Given the description of an element on the screen output the (x, y) to click on. 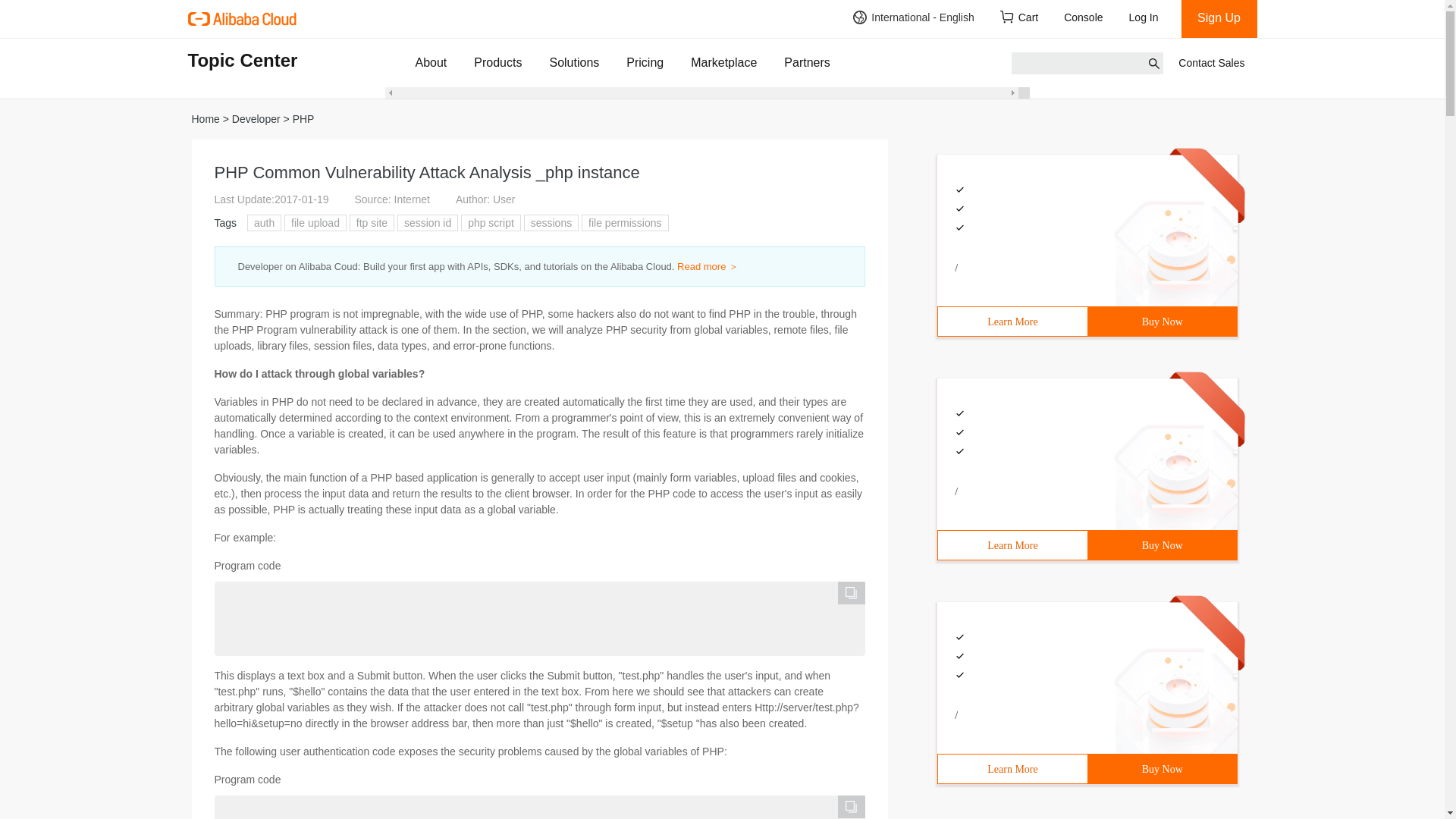
Learn More (1012, 544)
Console (1083, 18)
ftp site (371, 223)
Log In (1148, 18)
Learn More (1012, 321)
PHP (303, 119)
Partners (806, 62)
Products (497, 62)
php script (490, 223)
Contact Sales (1210, 63)
About (430, 62)
Buy Now (1161, 768)
sessions (551, 223)
Sign Up (1218, 18)
Learn More (1012, 768)
